Given the description of an element on the screen output the (x, y) to click on. 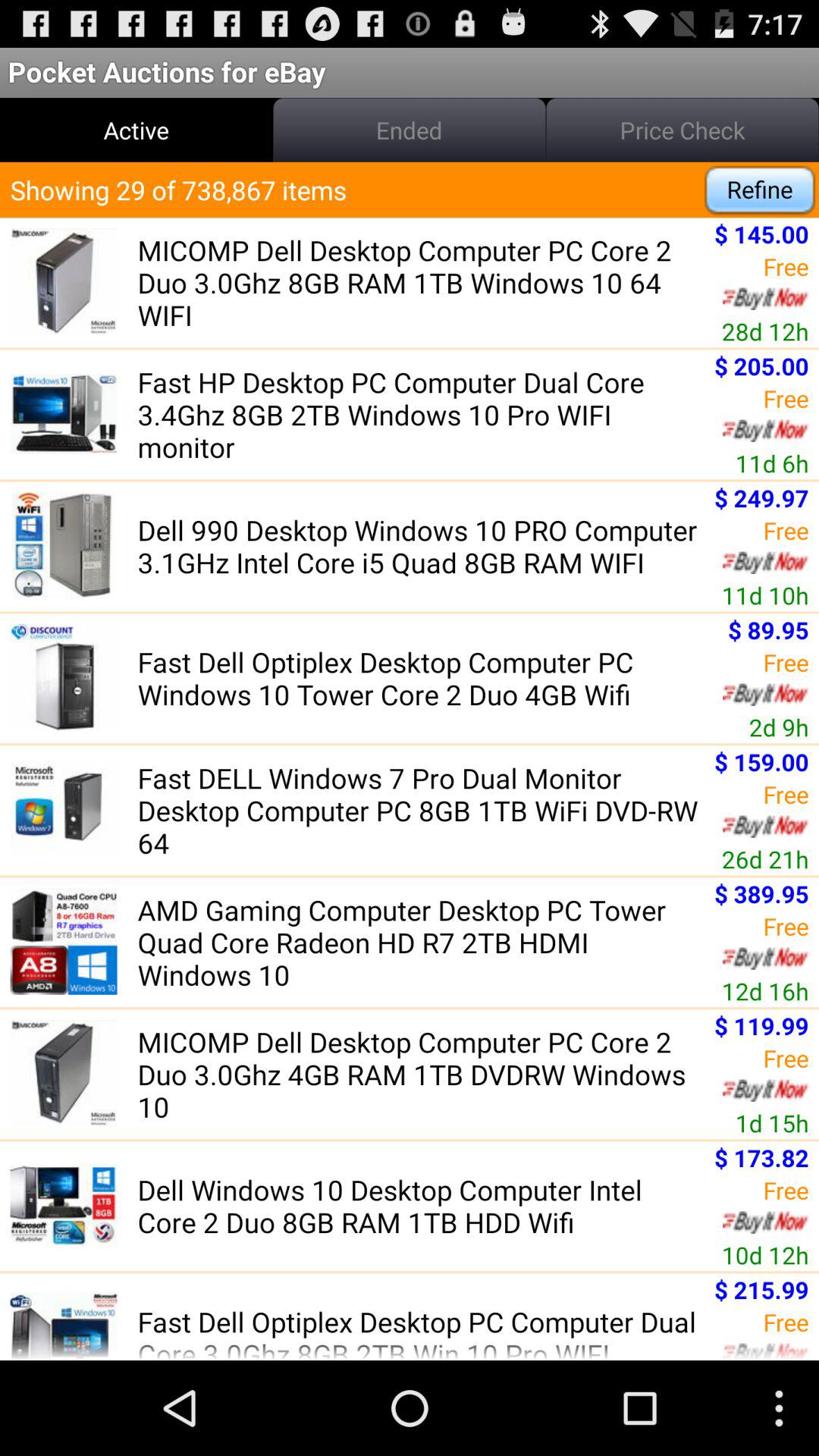
open the icon next to fast hp desktop item (771, 463)
